Given the description of an element on the screen output the (x, y) to click on. 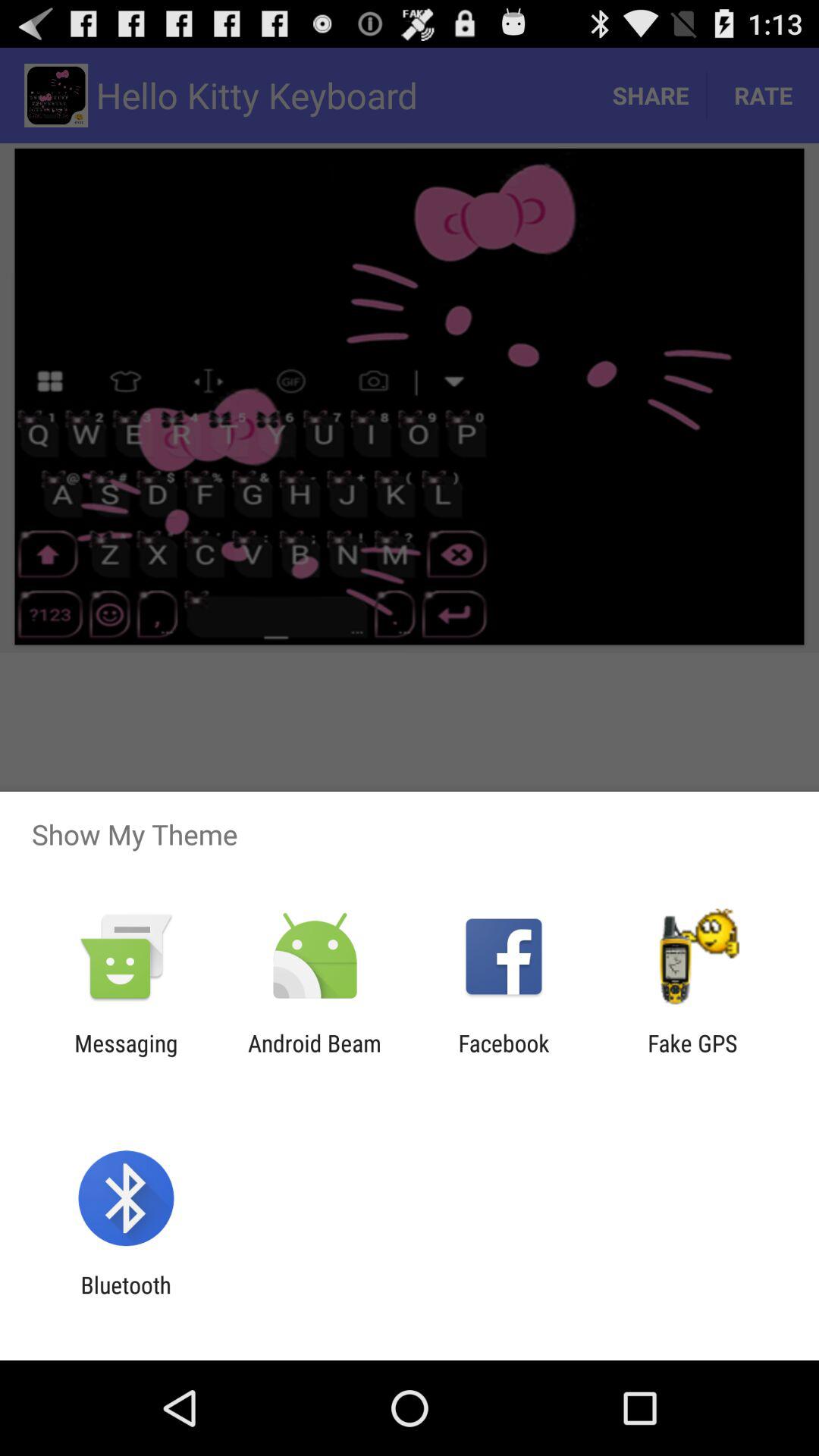
select icon next to the android beam (126, 1056)
